Given the description of an element on the screen output the (x, y) to click on. 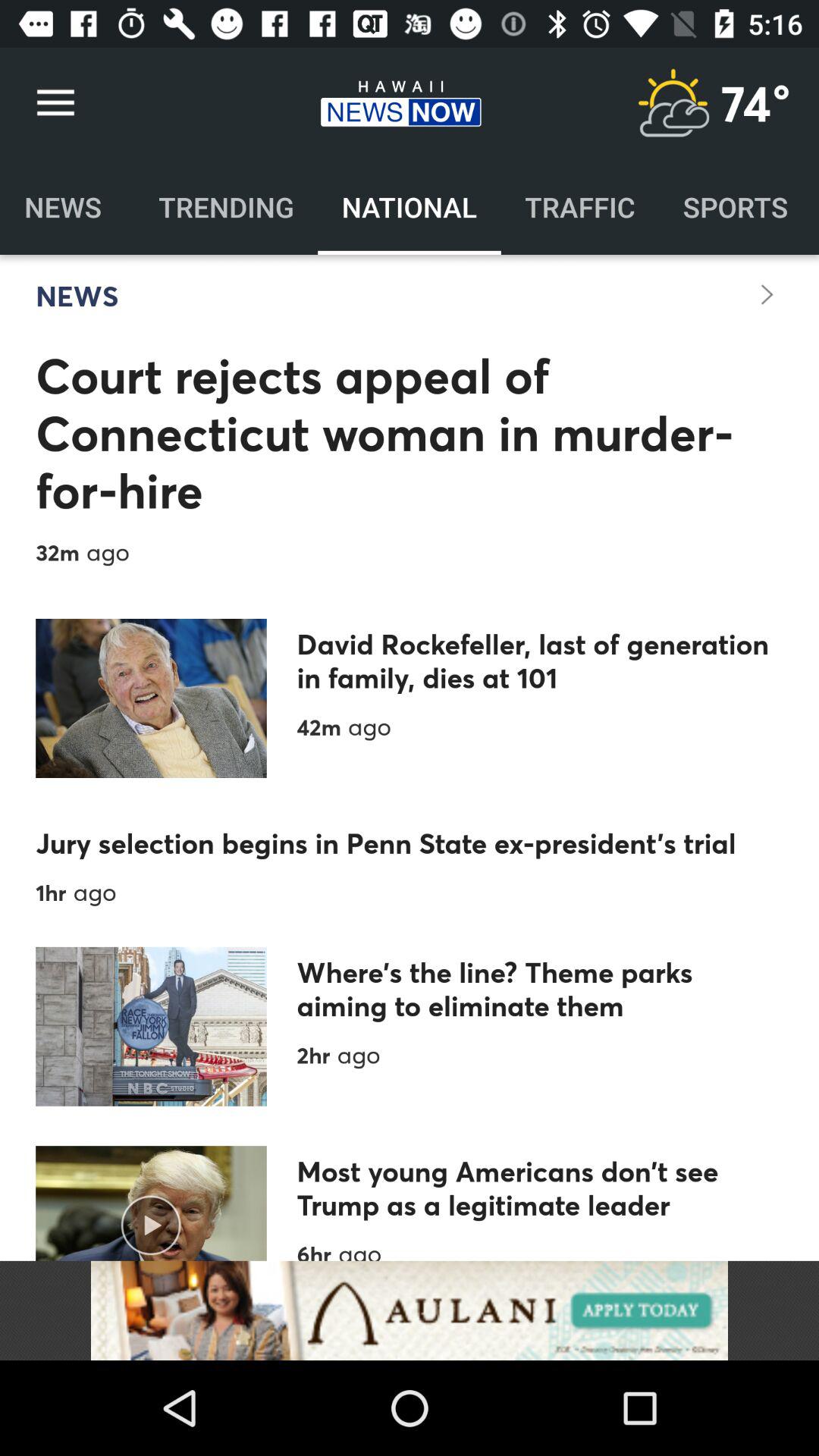
select the video which is at the bottom left corner (151, 1202)
